Given the description of an element on the screen output the (x, y) to click on. 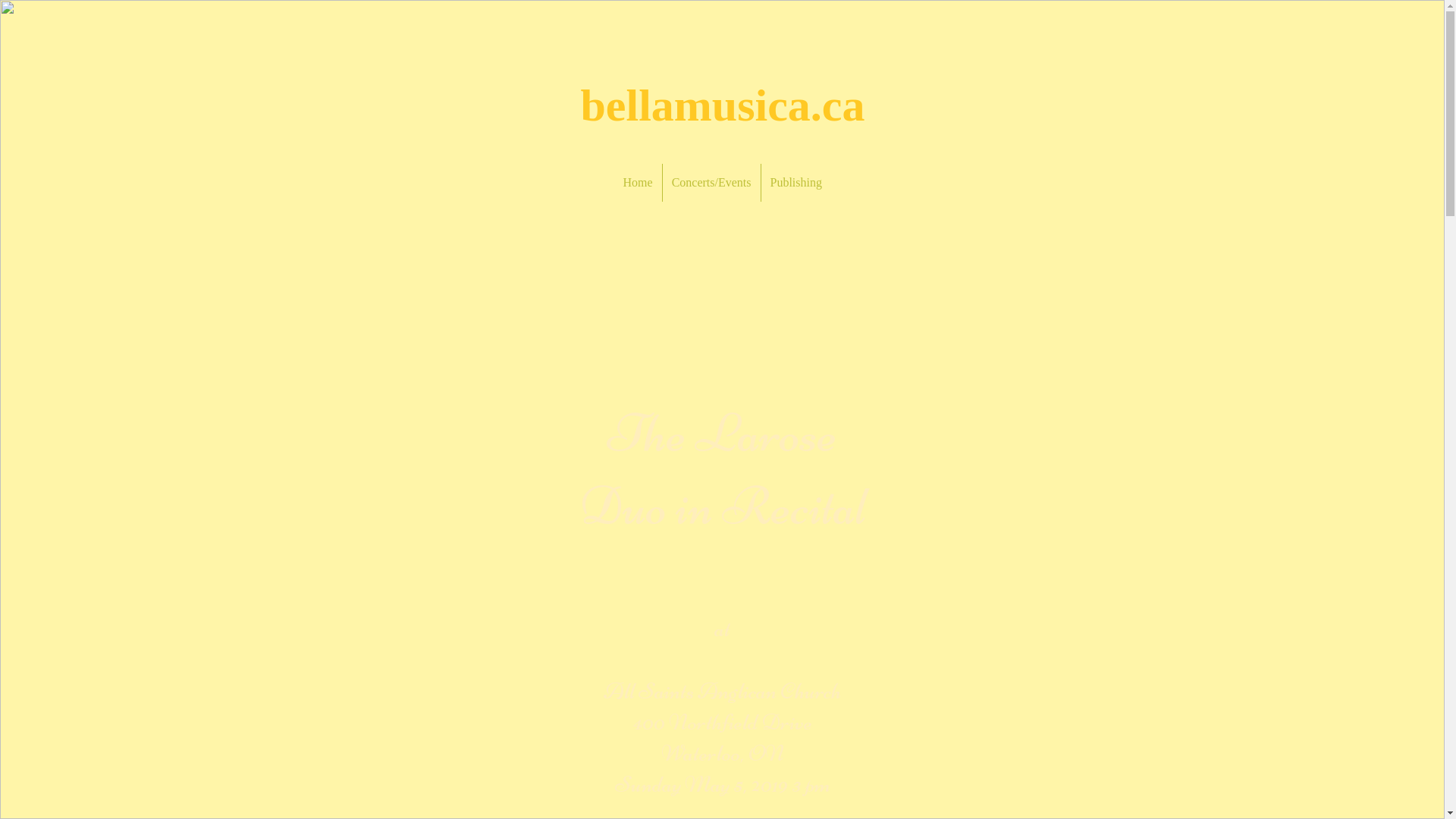
Home Element type: text (638, 182)
